Given the description of an element on the screen output the (x, y) to click on. 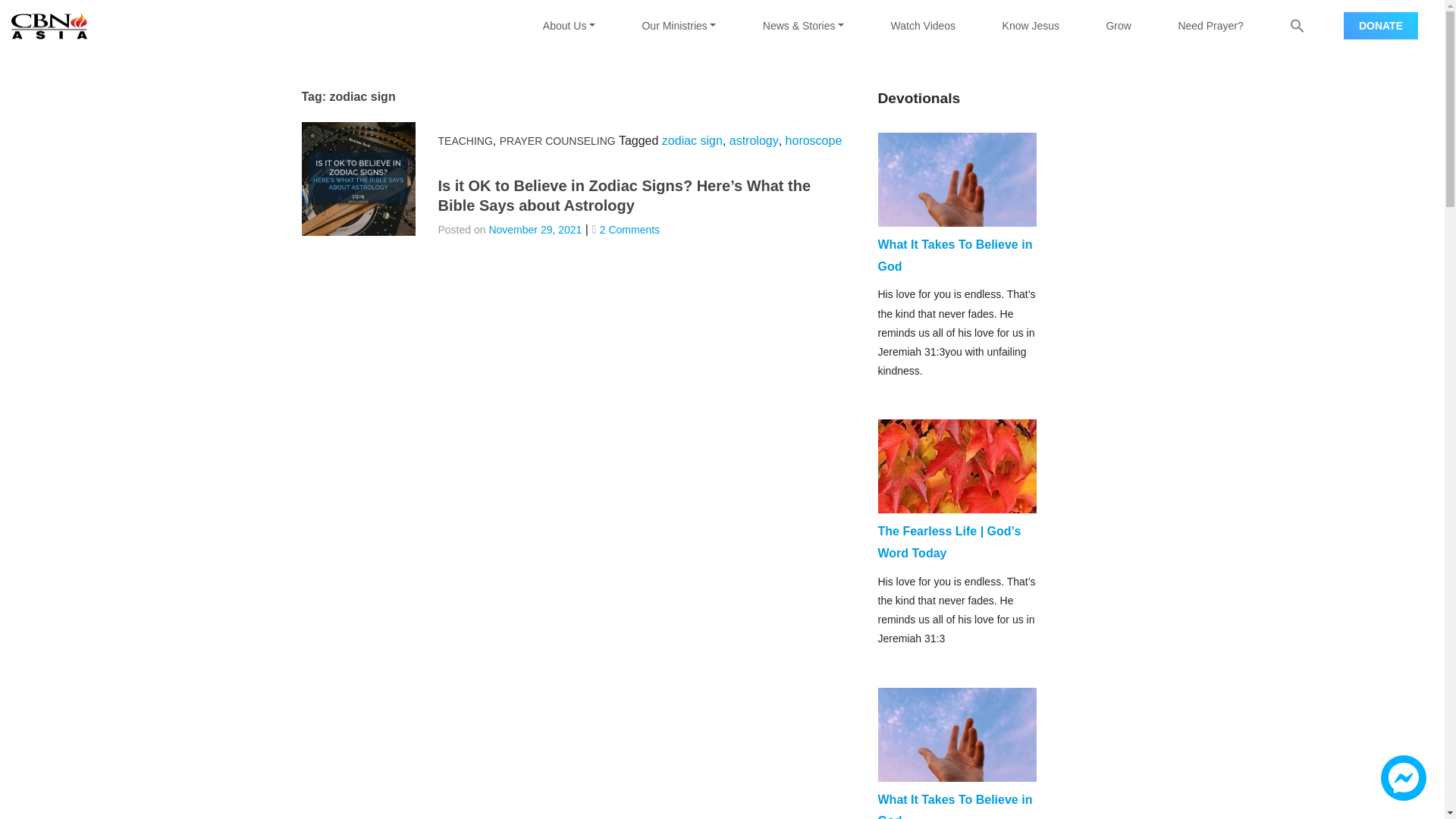
DONATE (1380, 25)
November 29, 2021 (533, 229)
Watch Videos (922, 25)
About Us (568, 25)
TEACHING (465, 141)
Grow (1118, 25)
About Us (568, 25)
Know Jesus (1030, 25)
Need Prayer? (1210, 25)
Our Ministries (678, 25)
PRAYER COUNSELING (557, 141)
Our Ministries (678, 25)
